Given the description of an element on the screen output the (x, y) to click on. 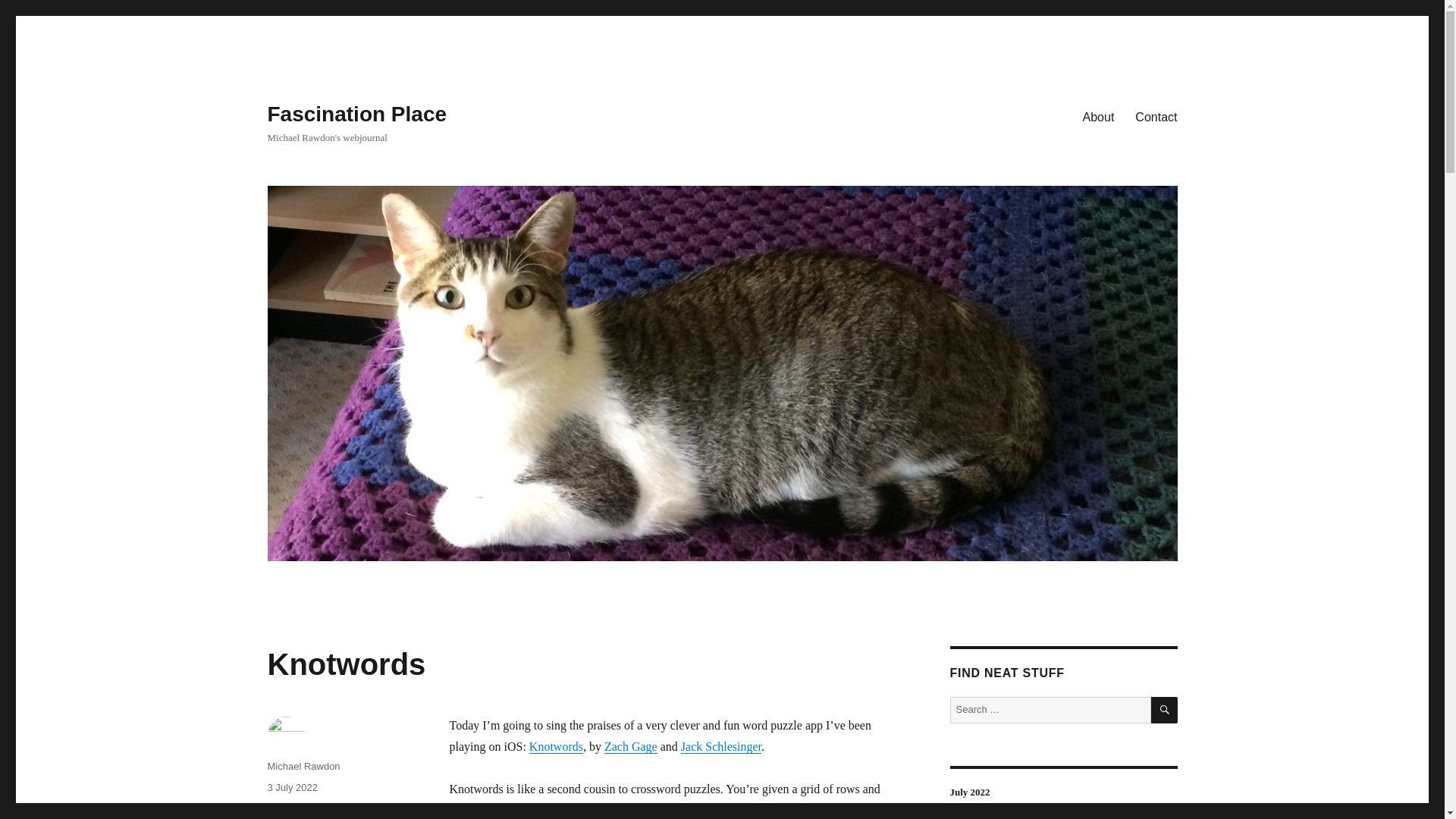
3 July 2022 (291, 787)
Jack Schlesinger (721, 746)
Knotwords (556, 746)
Michael Rawdon (302, 766)
SEARCH (1164, 709)
About (1098, 116)
Zach Gage (631, 746)
Contact (1156, 116)
Fascination Place (356, 114)
Computer Games (305, 808)
